Given the description of an element on the screen output the (x, y) to click on. 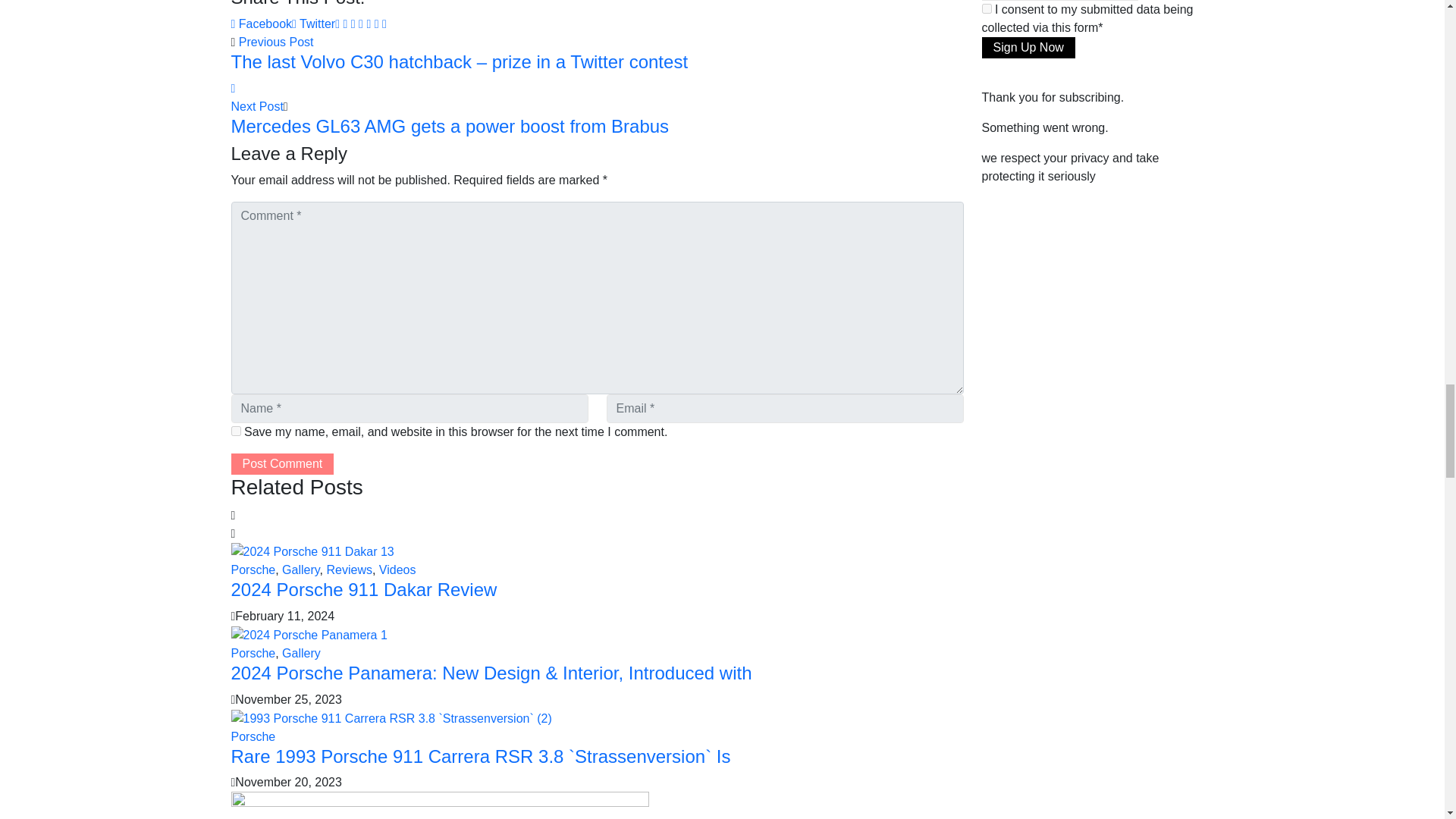
Sign Up Now (1027, 47)
on (986, 8)
Post Comment (281, 464)
yes (235, 430)
